Given the description of an element on the screen output the (x, y) to click on. 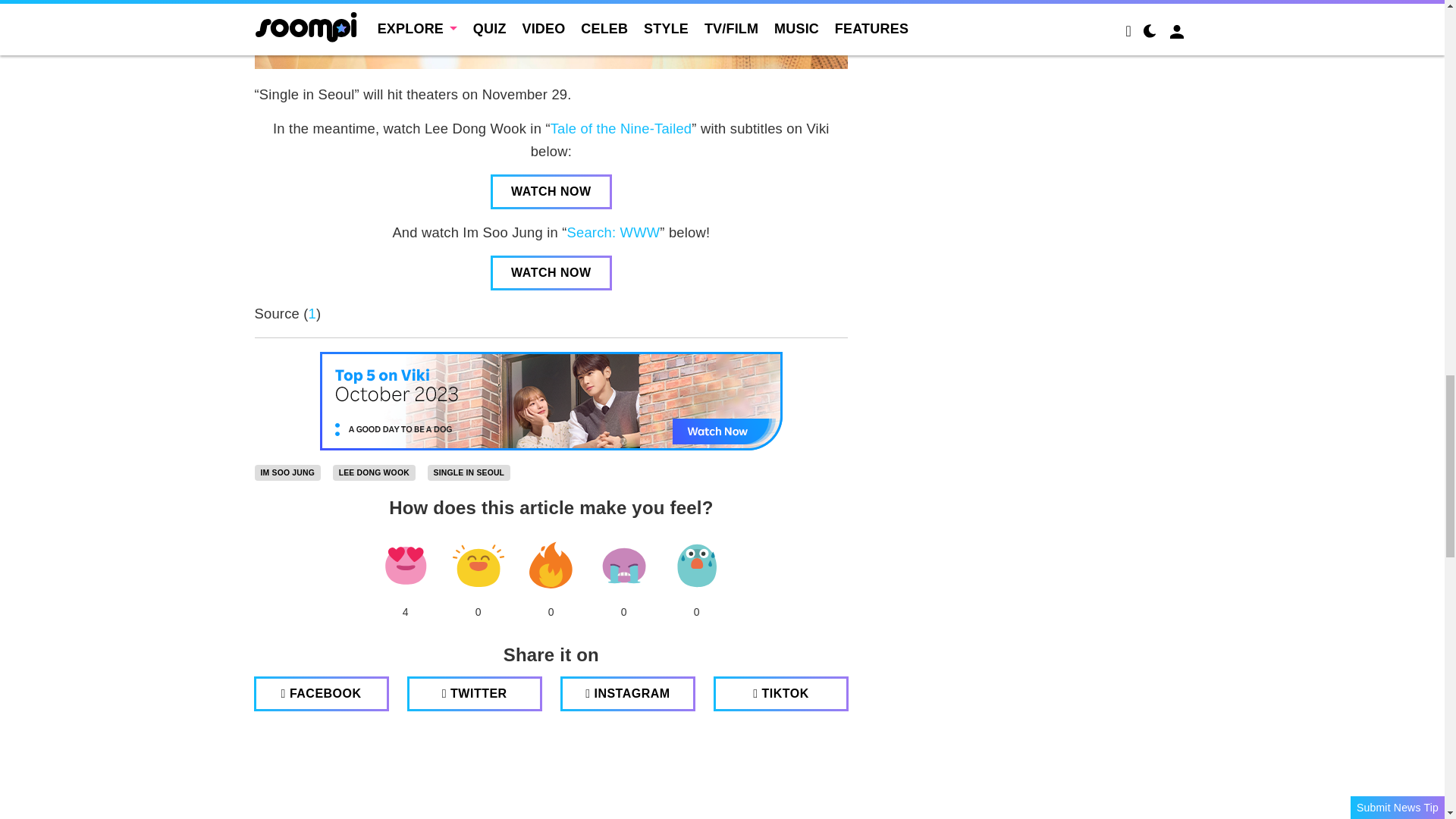
WATCH NOW (550, 191)
LEE DONG WOOK (373, 473)
SINGLE IN SEOUL (469, 473)
OMG (696, 565)
Tale of the Nine-Tailed (621, 128)
WATCH NOW (550, 272)
Im Soo Jung (287, 473)
Heart (405, 565)
3rd party ad content (551, 777)
Single in Seoul (469, 473)
